Given the description of an element on the screen output the (x, y) to click on. 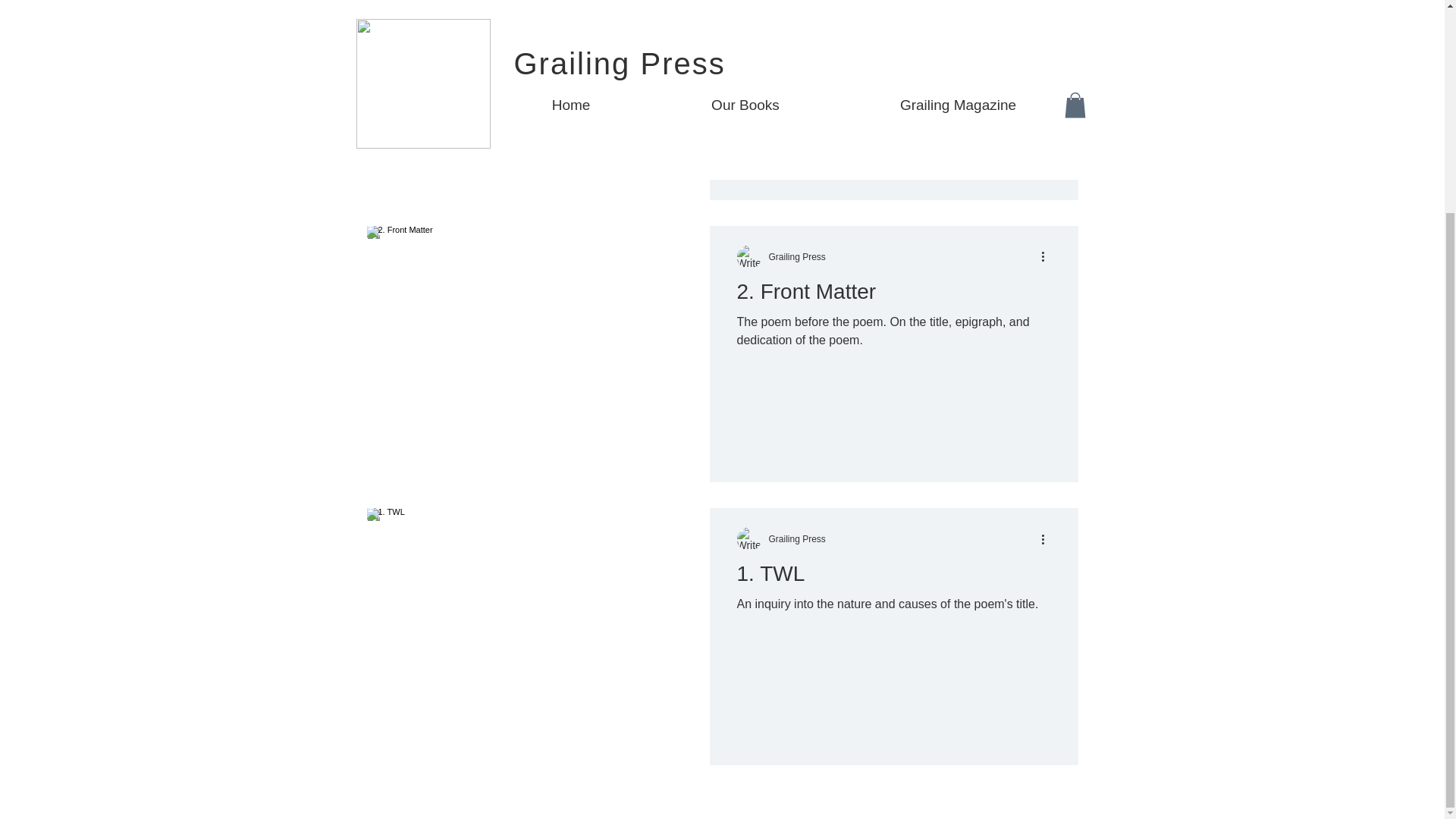
Grailing Press (796, 538)
Grailing Press (796, 255)
3. Starting (893, 15)
2. Front Matter (893, 295)
1. TWL (893, 578)
